Given the description of an element on the screen output the (x, y) to click on. 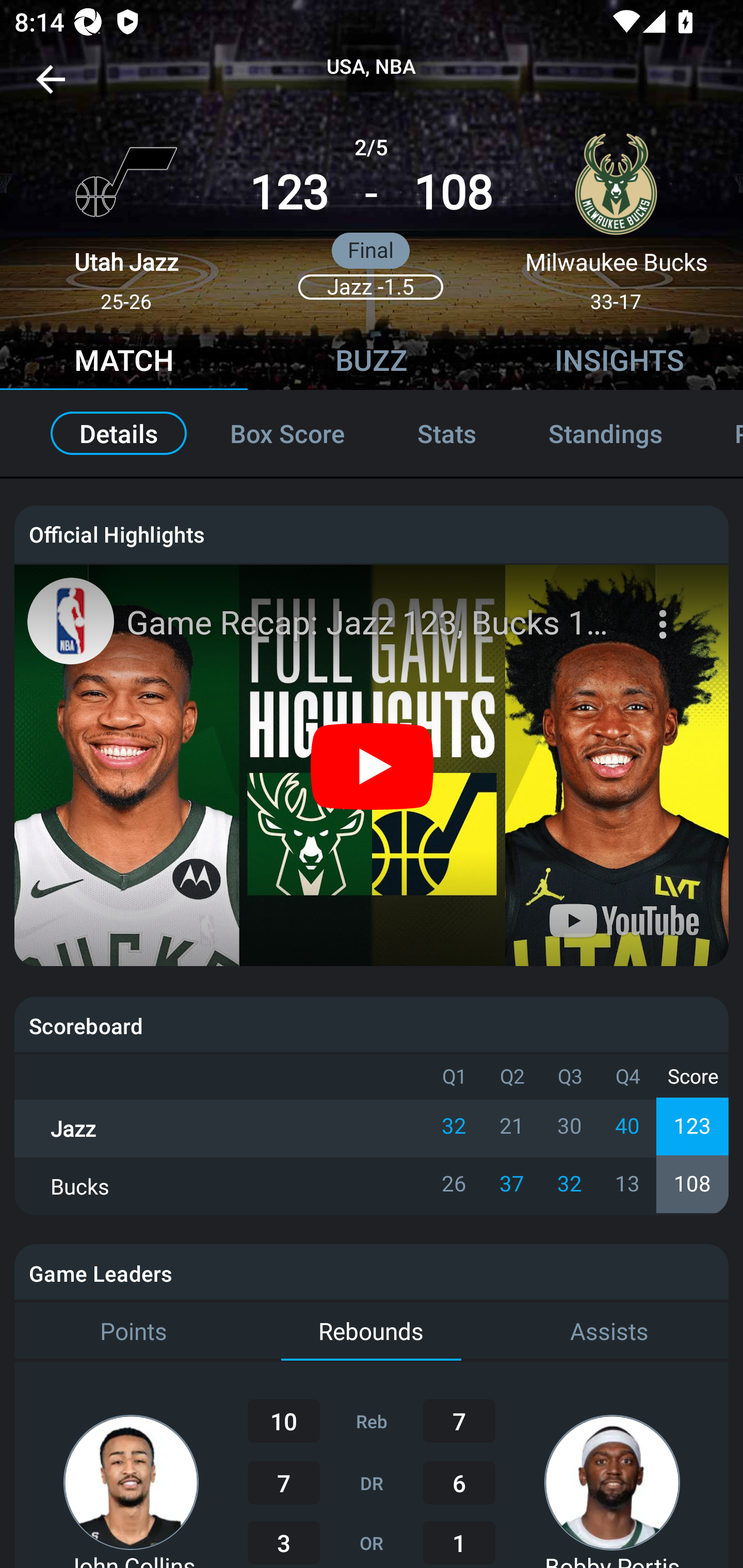
Navigate up (50, 86)
USA, NBA (371, 66)
Utah Jazz 25-26 (126, 214)
Milwaukee Bucks 33-17 (616, 214)
123 (288, 192)
108 (453, 192)
MATCH (123, 362)
BUZZ (371, 362)
INSIGHTS (619, 362)
Box Score (287, 433)
Stats (446, 433)
Standings (605, 433)
Official Highlights (371, 533)
More (665, 612)
Photo image of Motion Station (70, 620)
Game Recap: Jazz 123, Bucks 108 (373, 623)
Play (372, 765)
Points (133, 1332)
Assists (609, 1332)
